Given the description of an element on the screen output the (x, y) to click on. 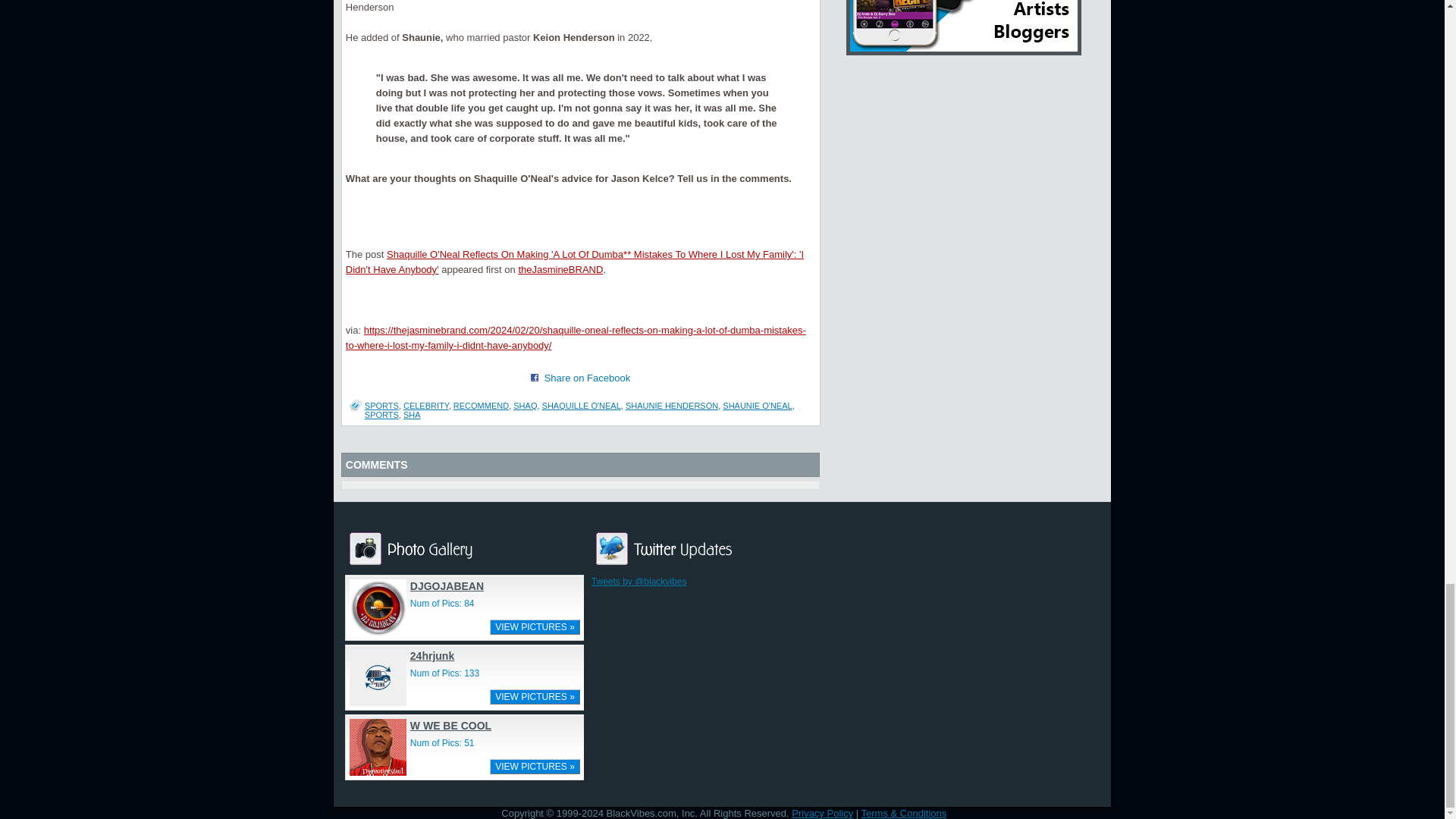
Share on Facebook (534, 377)
SHAUNIE O'NEAL (757, 405)
SHAQ (525, 405)
CELEBRITY (425, 405)
celebrity (425, 405)
Share on Facebook (587, 378)
SPORTS (381, 414)
SHAQUILLE O'NEAL (581, 405)
Sports (381, 405)
SHA (411, 414)
SHAUNIE HENDERSON (671, 405)
shaq (525, 405)
SPORTS (381, 405)
shaquille o'neal (581, 405)
theJasmineBRAND (560, 269)
